Given the description of an element on the screen output the (x, y) to click on. 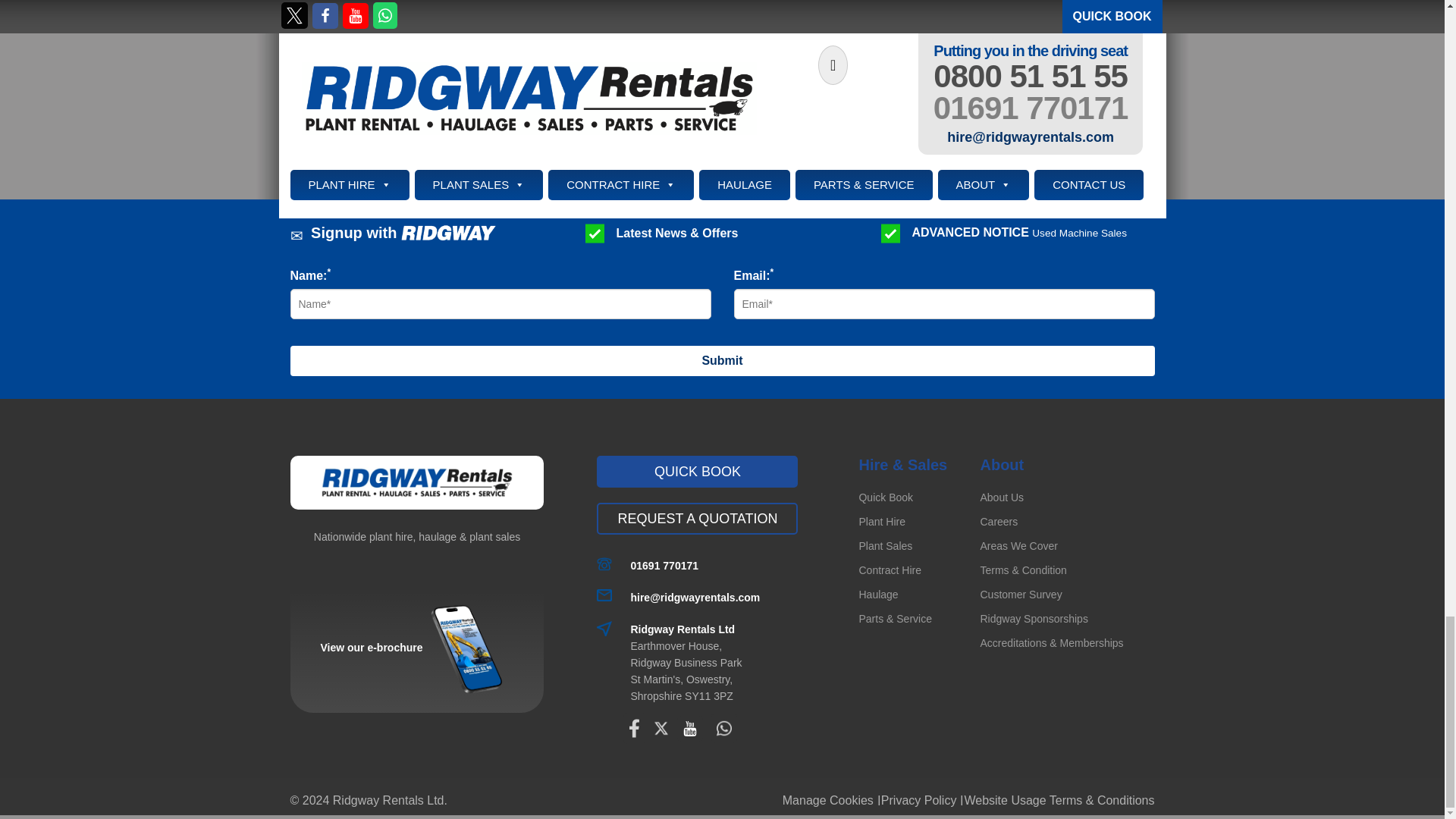
Email (695, 597)
Ridgway Rentals (416, 482)
